Given the description of an element on the screen output the (x, y) to click on. 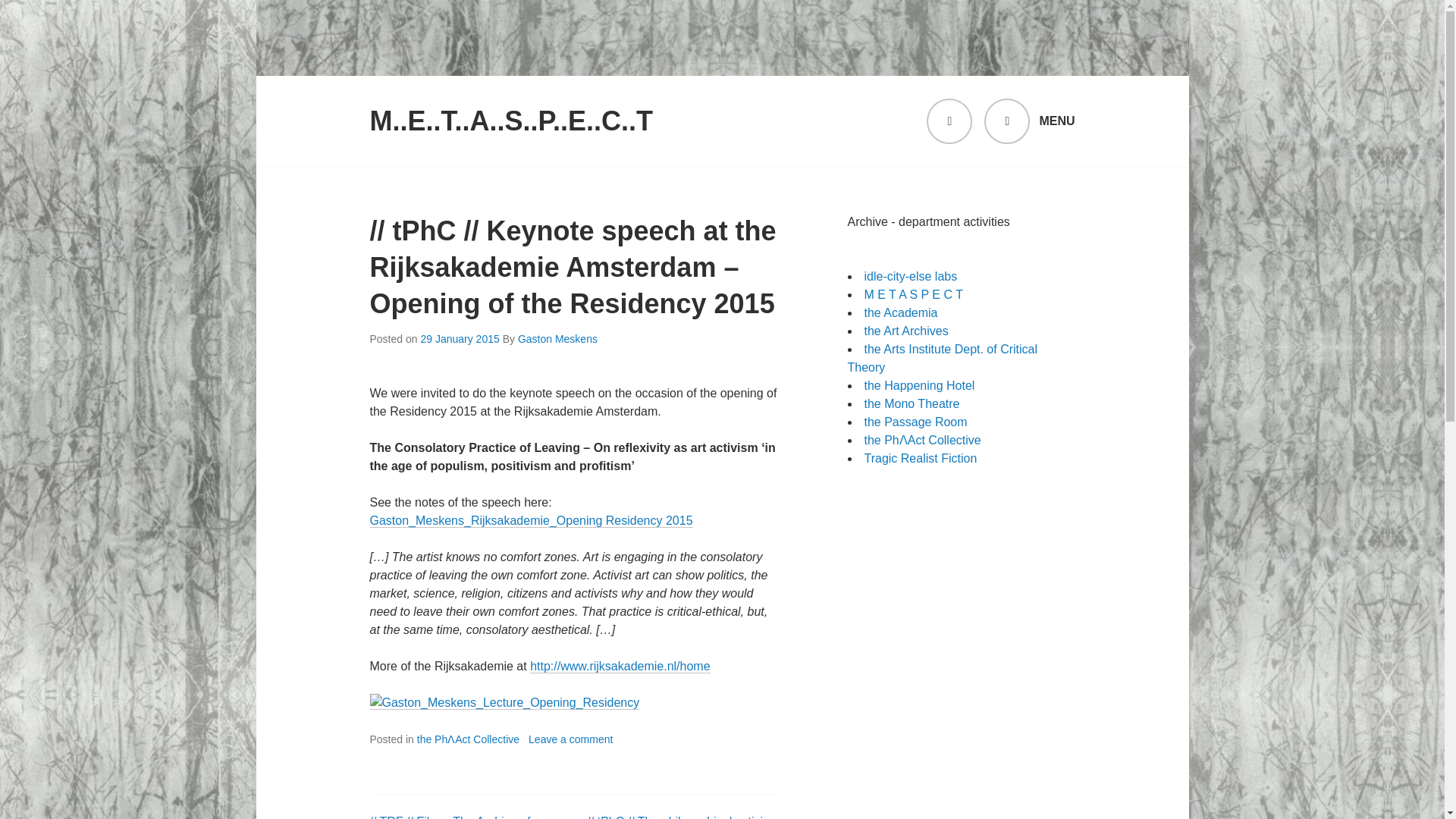
idle-city-else labs (911, 276)
M..E..T..A..S..P..E..C..T (510, 121)
Gaston Meskens (557, 338)
the Academia (900, 312)
Tragic Realist Fiction (920, 458)
MENU (1029, 121)
the Art Archives (906, 330)
29 January 2015 (459, 338)
the Arts Institute Dept. of Critical Theory (942, 358)
the Passage Room (916, 421)
the Happening Hotel (919, 385)
M E T A S P E C T (913, 294)
SEARCH (949, 121)
Leave a comment (570, 739)
the Mono Theatre (911, 403)
